Given the description of an element on the screen output the (x, y) to click on. 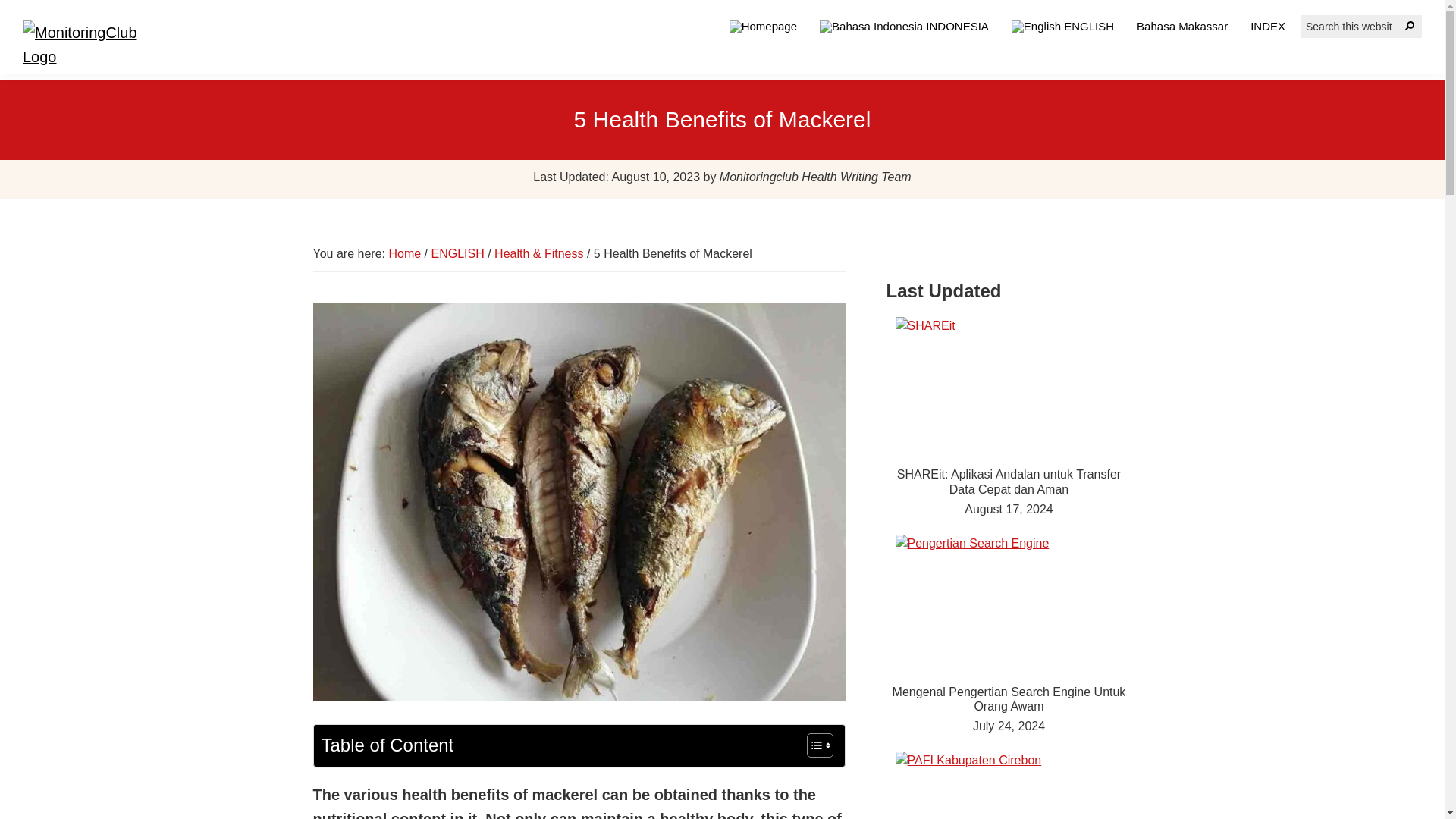
Bahasa Makassar (1182, 25)
INDONESIA (904, 26)
Home (404, 253)
Mengenal Pengertian Search Engine Untuk Orang Awam (1008, 698)
INDONESIAN (904, 26)
ENGLISH (1062, 26)
ENGLISH (456, 253)
SHAREit: Aplikasi Andalan untuk Transfer Data Cepat dan Aman (1008, 481)
INDEX (1268, 25)
